Given the description of an element on the screen output the (x, y) to click on. 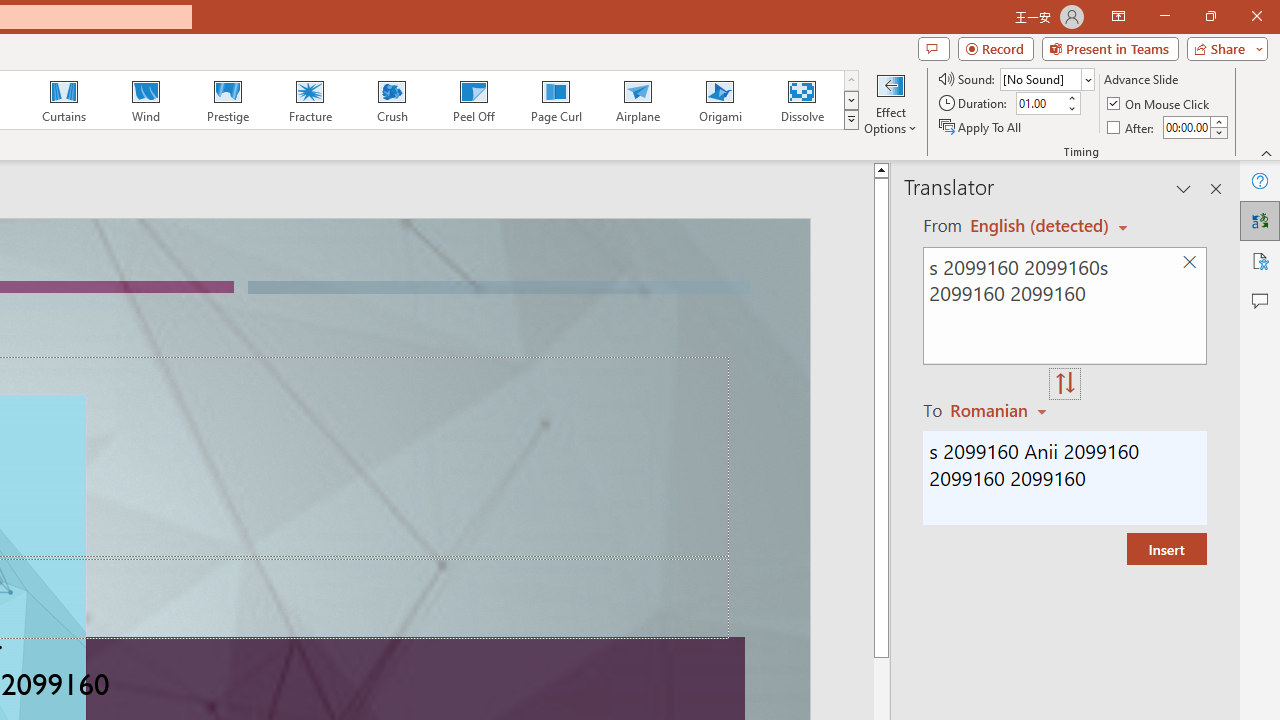
Czech (1001, 409)
Prestige (227, 100)
Wind (145, 100)
